Given the description of an element on the screen output the (x, y) to click on. 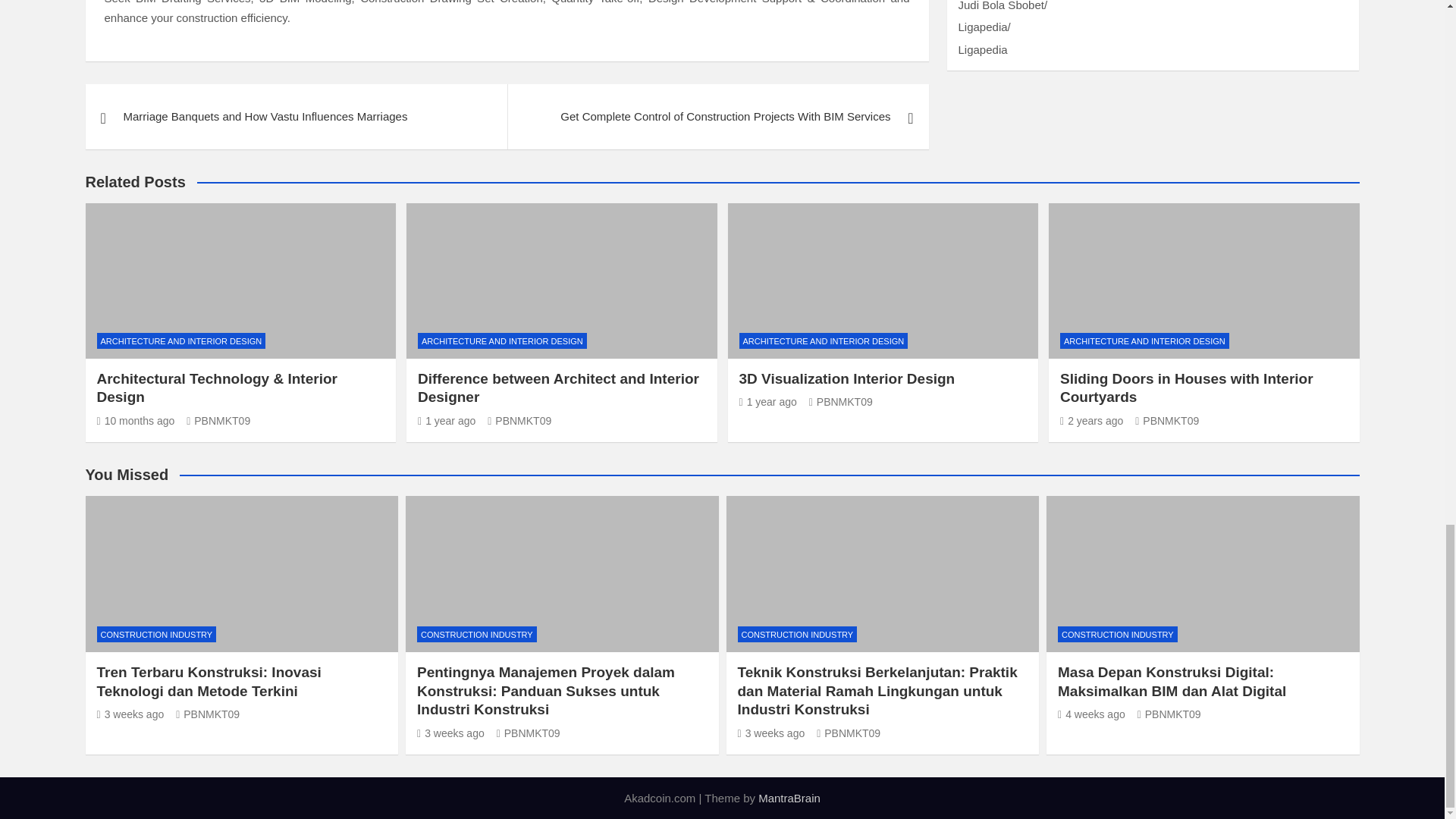
Sliding Doors in Houses with Interior Courtyards (1090, 420)
Difference between Architect and Interior Designer (446, 420)
3D Visualization Interior Design (767, 401)
Marriage Banquets and How Vastu Influences Marriages (295, 116)
MantraBrain (789, 797)
